Given the description of an element on the screen output the (x, y) to click on. 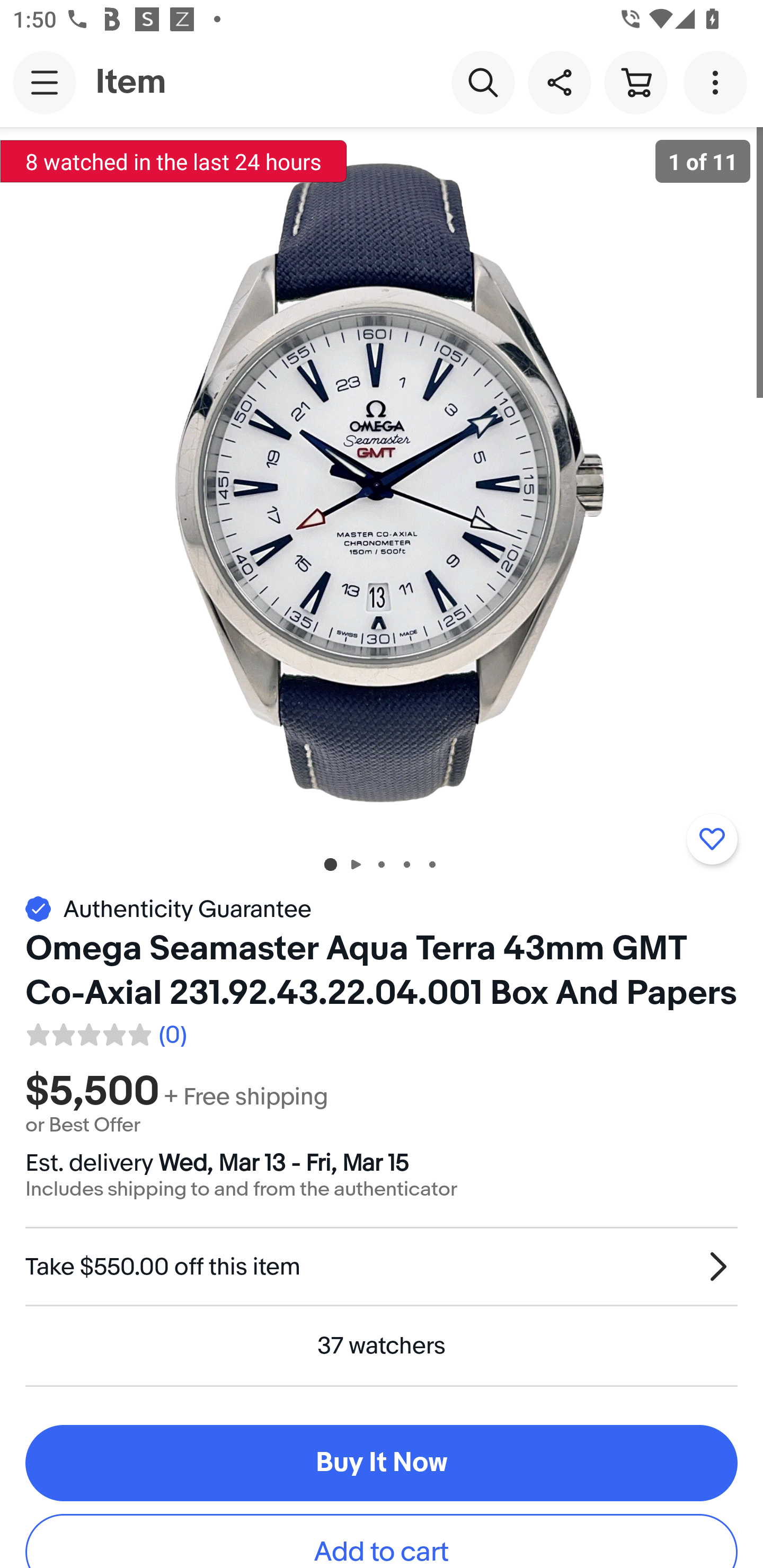
Main navigation, open (44, 82)
Search (482, 81)
Share this item (559, 81)
Cart button shopping cart (635, 81)
More options (718, 81)
Item image 1 of 11 (381, 482)
8 watched in the last 24 hours (173, 161)
Add to watchlist (711, 838)
0 reviews. Average rating 0.0 out of five 0.0 (0) (105, 1031)
Buy It Now (381, 1462)
Add to cart (381, 1541)
